Given the description of an element on the screen output the (x, y) to click on. 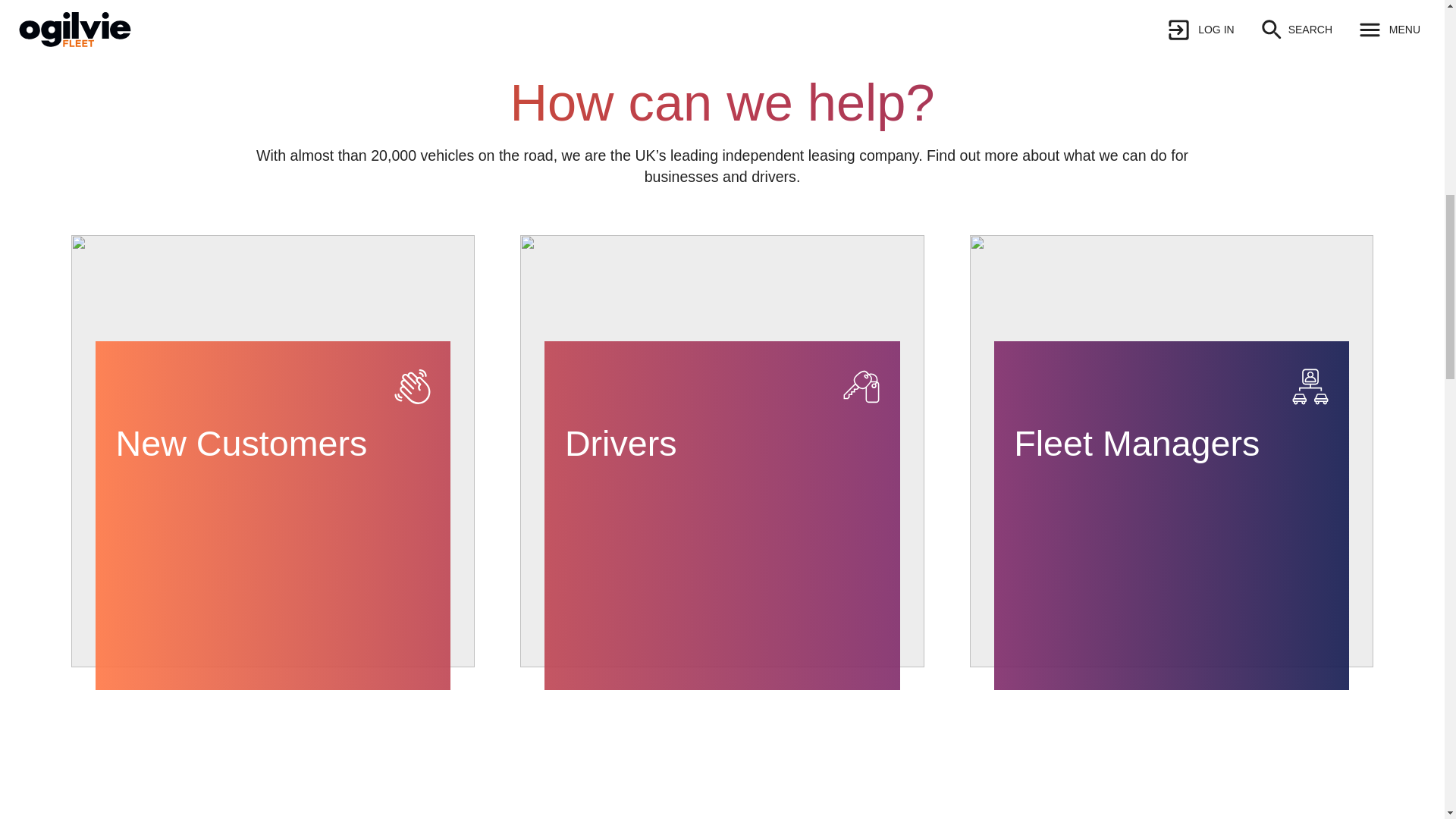
Drivers (721, 515)
Fleet Managers (1171, 515)
New Customers (272, 515)
